Given the description of an element on the screen output the (x, y) to click on. 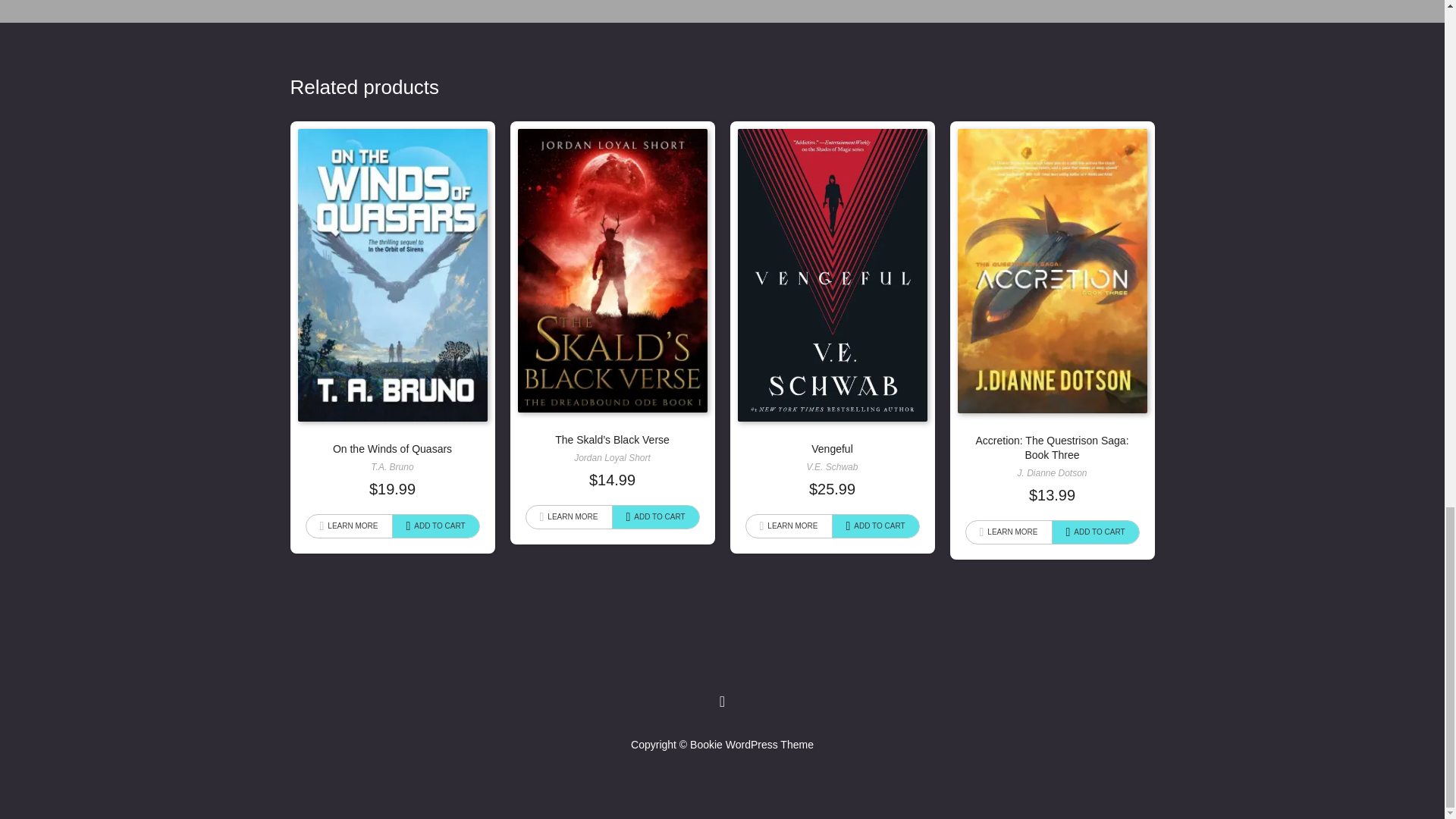
ADD TO CART (875, 526)
ADD TO CART (436, 526)
LEARN MORE (568, 517)
ADD TO CART (655, 517)
ADD TO CART (1095, 531)
LEARN MORE (349, 526)
LEARN MORE (1009, 531)
LEARN MORE (788, 526)
